Given the description of an element on the screen output the (x, y) to click on. 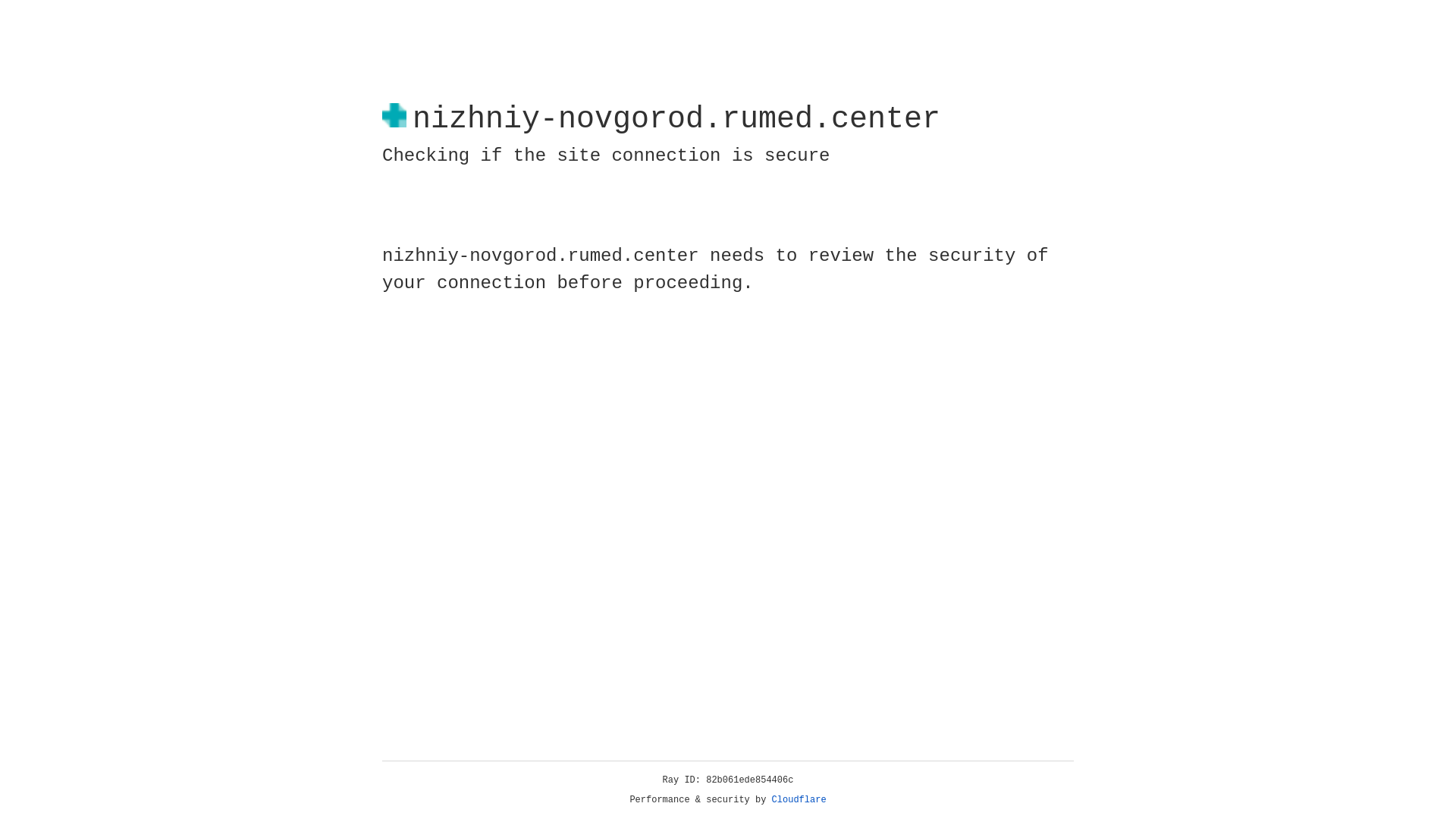
Cloudflare Element type: text (798, 799)
